Given the description of an element on the screen output the (x, y) to click on. 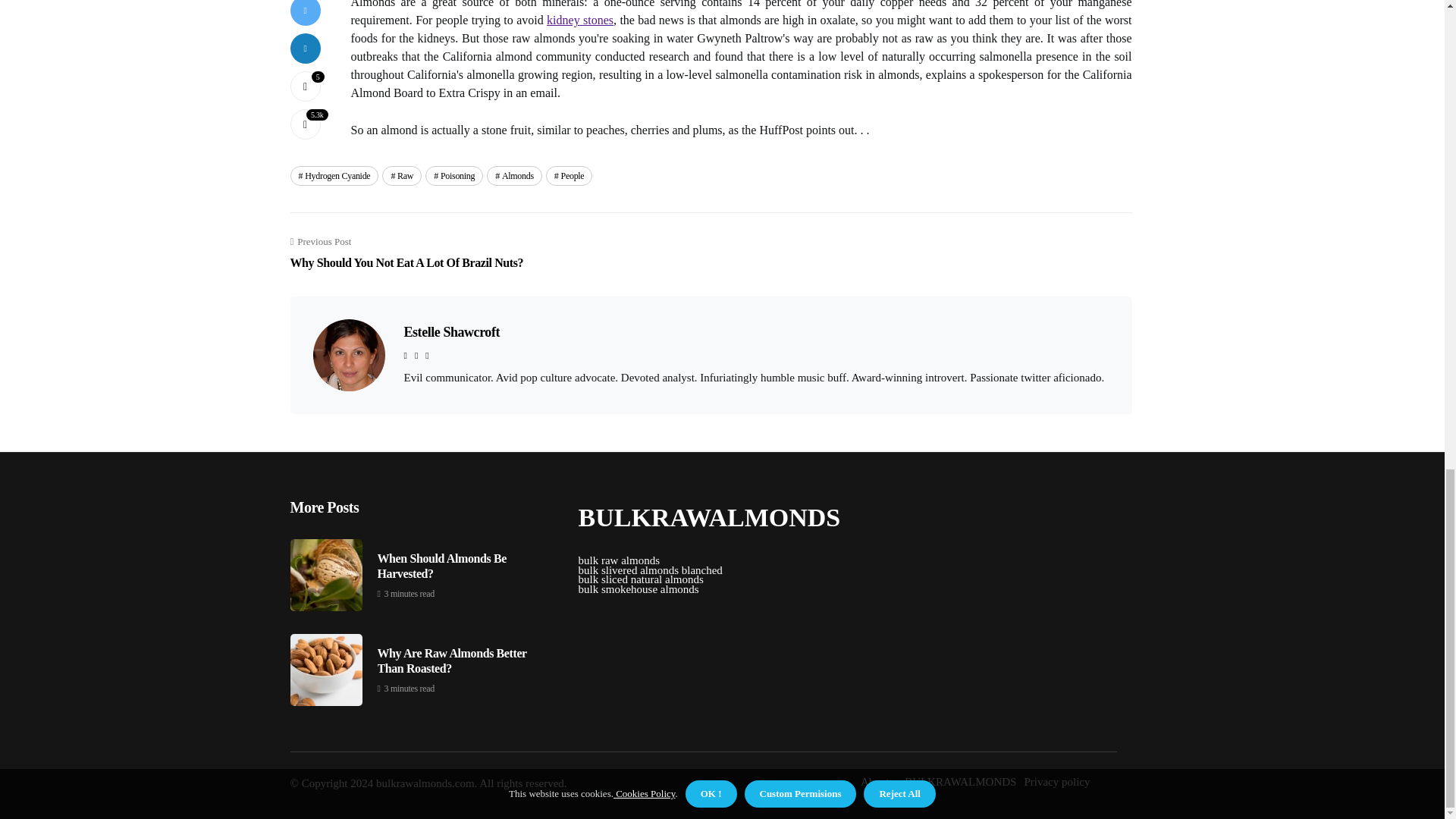
Raw (401, 175)
kidney stones (405, 253)
Hydrogen Cyanide (579, 19)
People (333, 175)
Estelle Shawcroft (569, 175)
Almonds (451, 331)
Poisoning (513, 175)
